Given the description of an element on the screen output the (x, y) to click on. 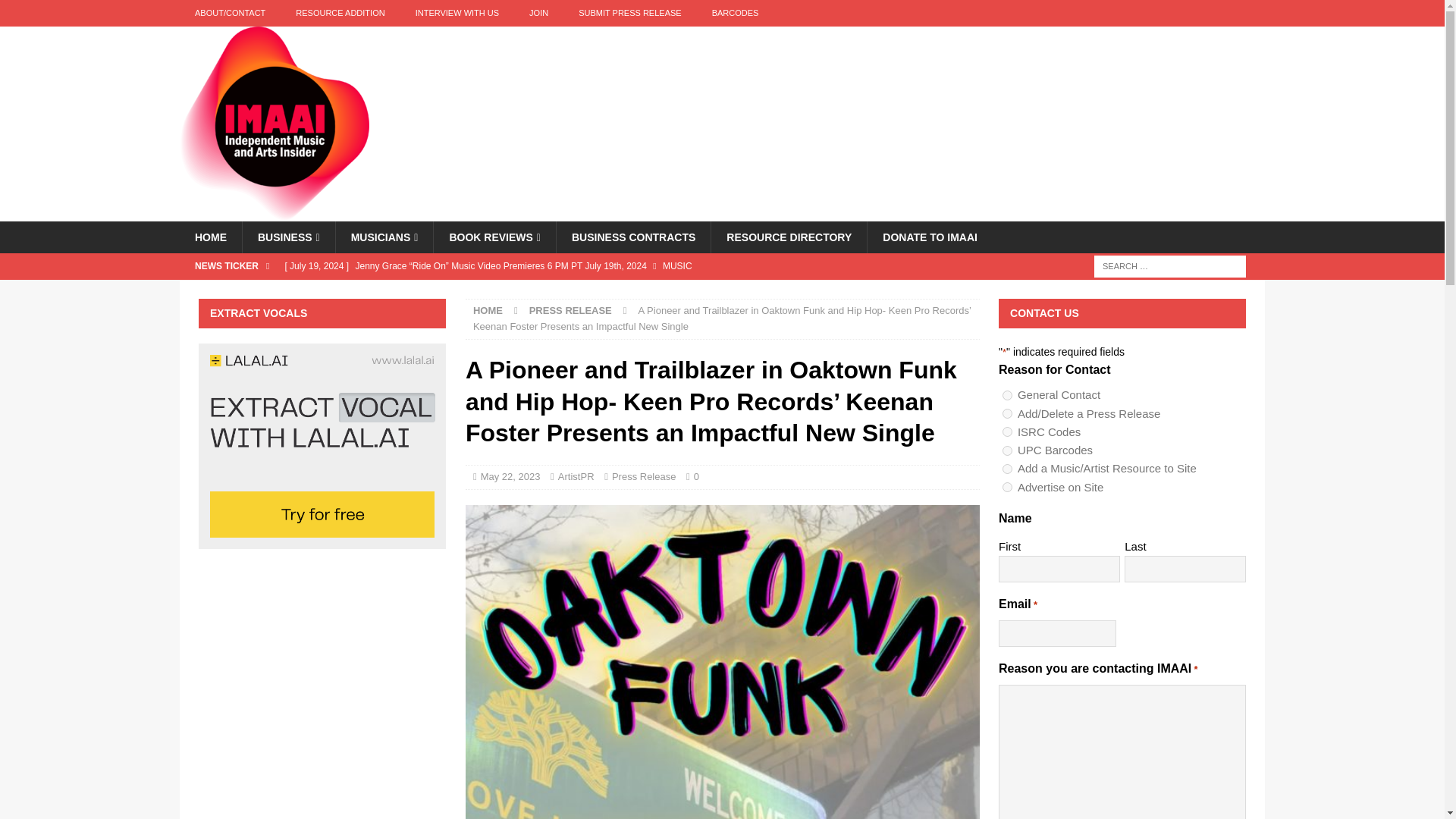
BUSINESS (287, 237)
JOIN (538, 13)
UPC Barcodes (1007, 450)
RESOURCE ADDITION (339, 13)
Advertise on Site (1007, 487)
ISRC Codes (1007, 431)
Independent Music and Arts Insider (274, 213)
General Contact (1007, 395)
SUBMIT PRESS RELEASE (630, 13)
HOME (210, 237)
INTERVIEW WITH US (456, 13)
BARCODES (735, 13)
MUSICIANS (383, 237)
